Given the description of an element on the screen output the (x, y) to click on. 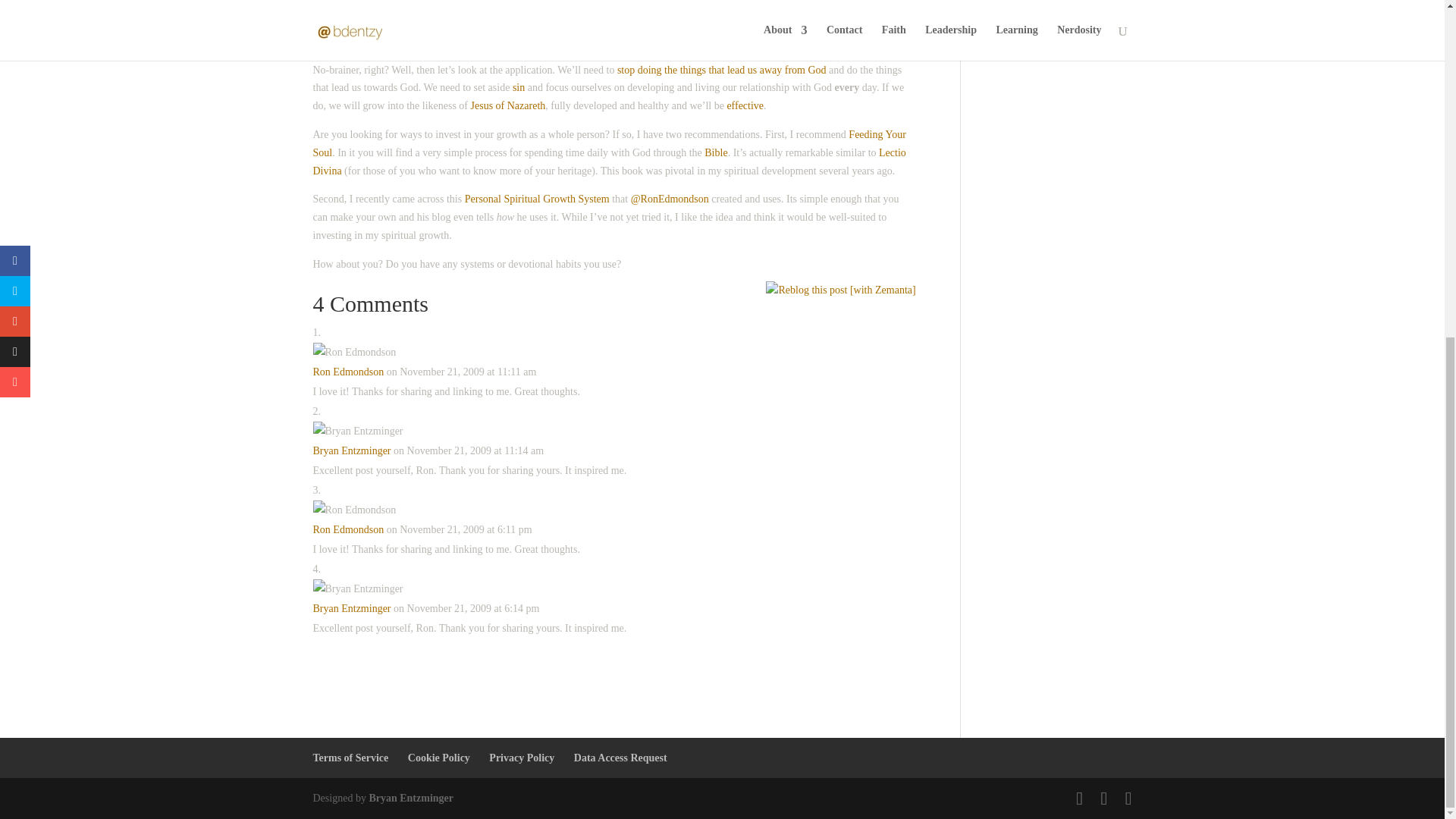
Feeding Your Soul (609, 143)
stop doing the things that lead us away from God (722, 70)
Jesus of Nazareth (508, 105)
Bible (715, 152)
Lectio Divina (609, 161)
Cookie Policy (438, 757)
Bible (715, 152)
Bryan Entzminger (351, 608)
Jesus (508, 105)
Sin (518, 87)
